Given the description of an element on the screen output the (x, y) to click on. 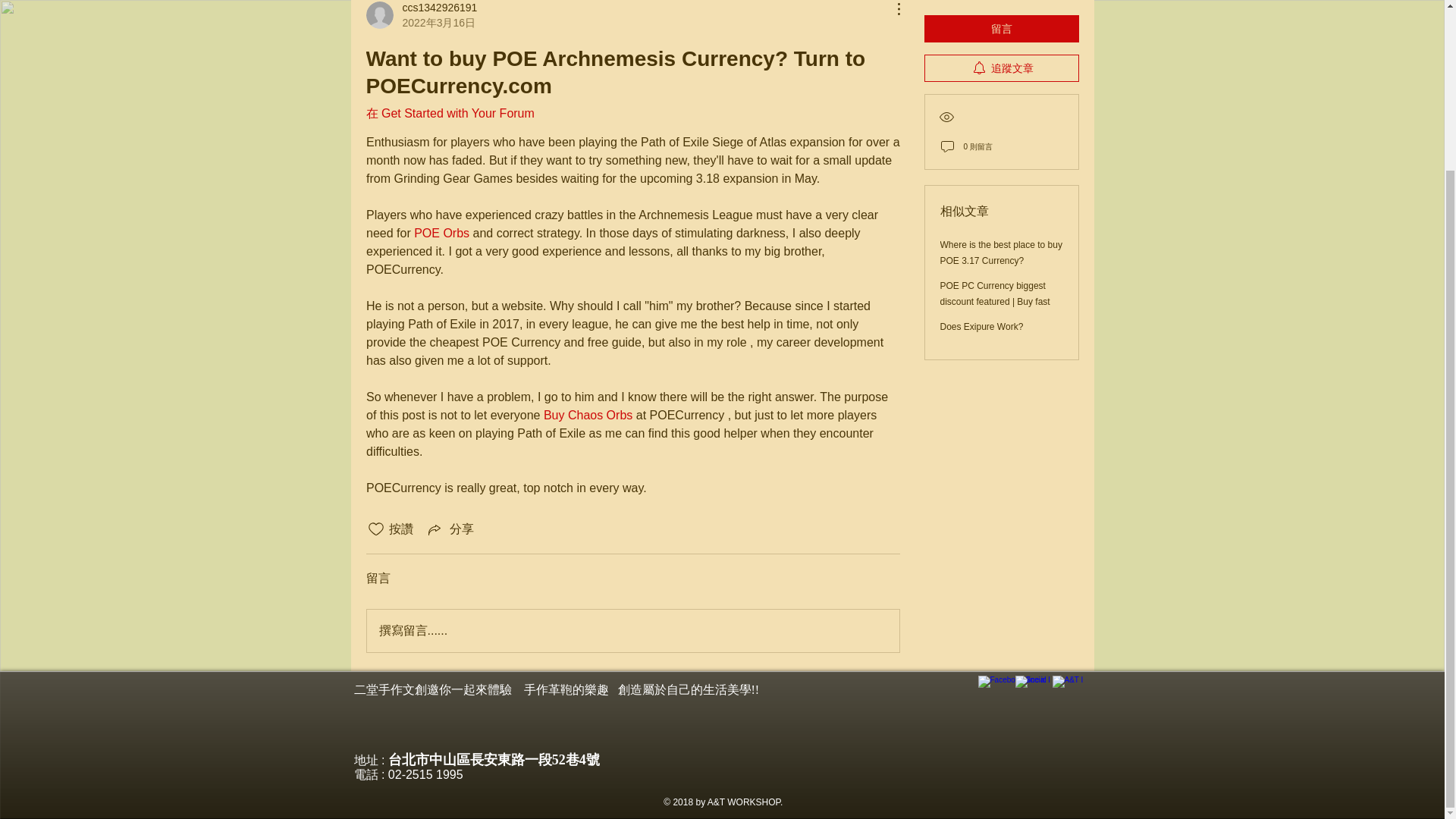
Does Exipure Work? (981, 311)
POE Orbs (440, 232)
Buy Chaos Orbs (587, 414)
Where is the best place to buy POE 3.17 Currency? (1001, 237)
